Given the description of an element on the screen output the (x, y) to click on. 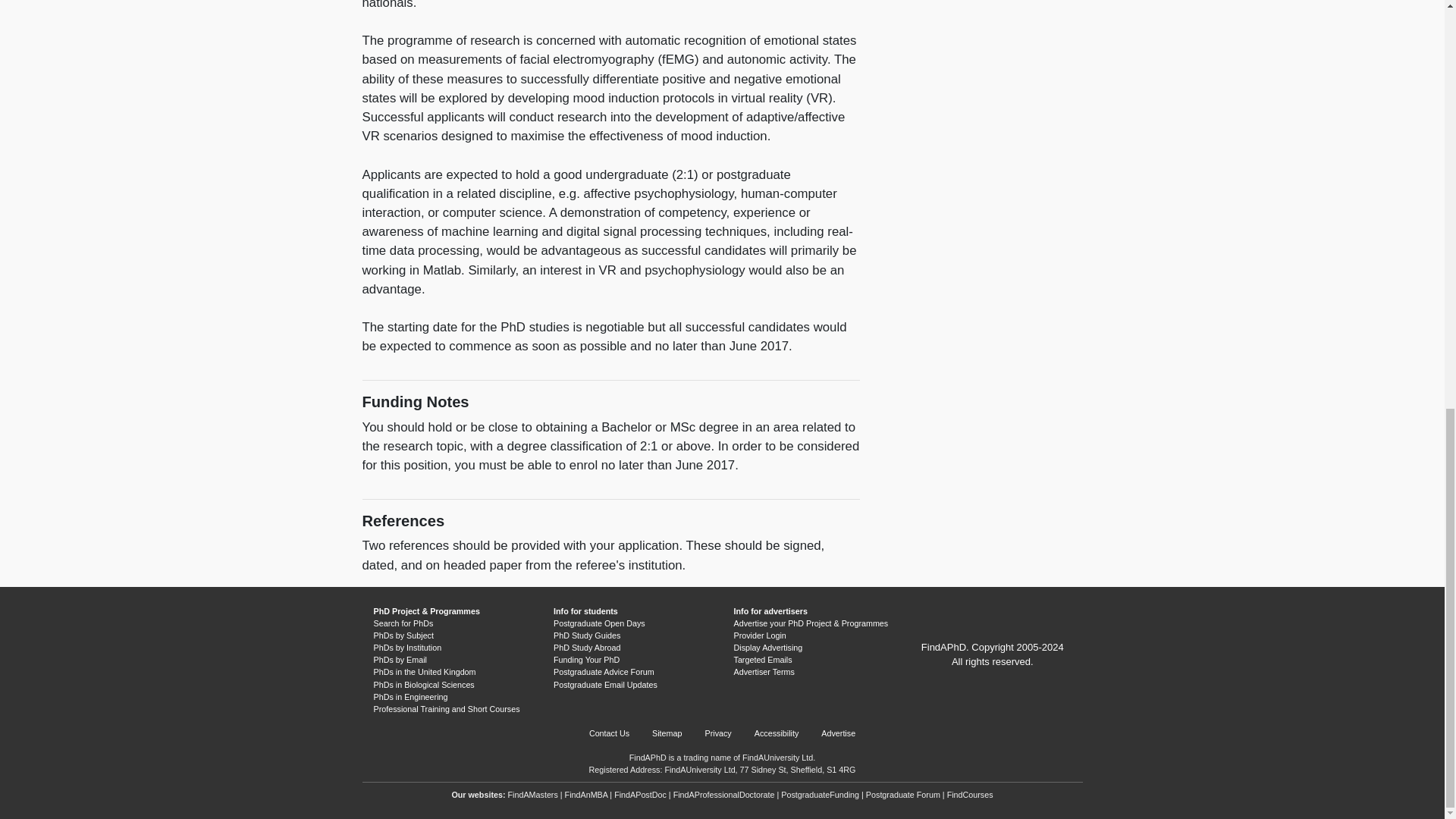
Postgraduate Advertising (777, 757)
Professional Training and Short Courses (445, 708)
